Given the description of an element on the screen output the (x, y) to click on. 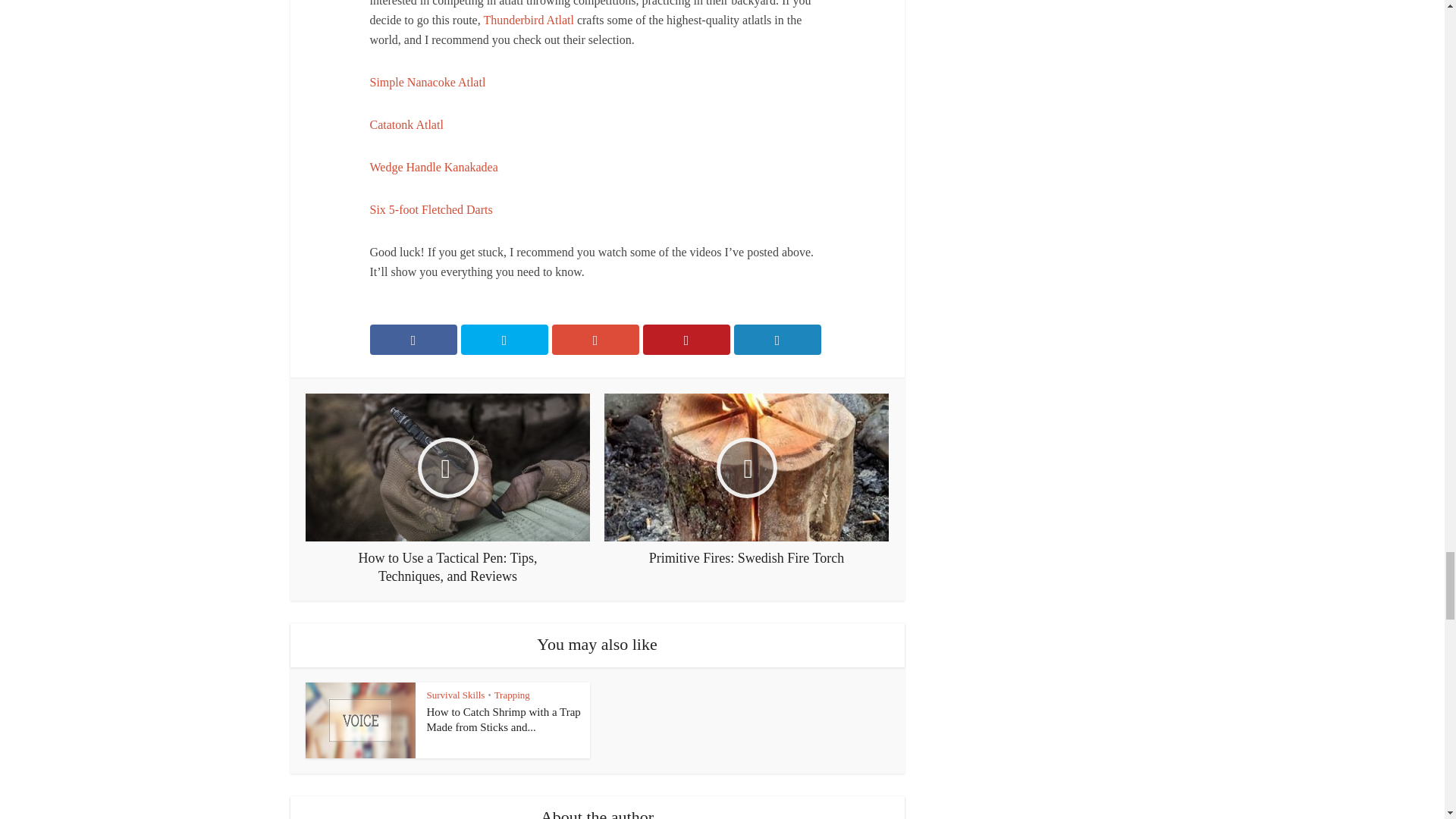
How to Catch Shrimp with a Trap Made from Sticks and Vines (502, 719)
